Given the description of an element on the screen output the (x, y) to click on. 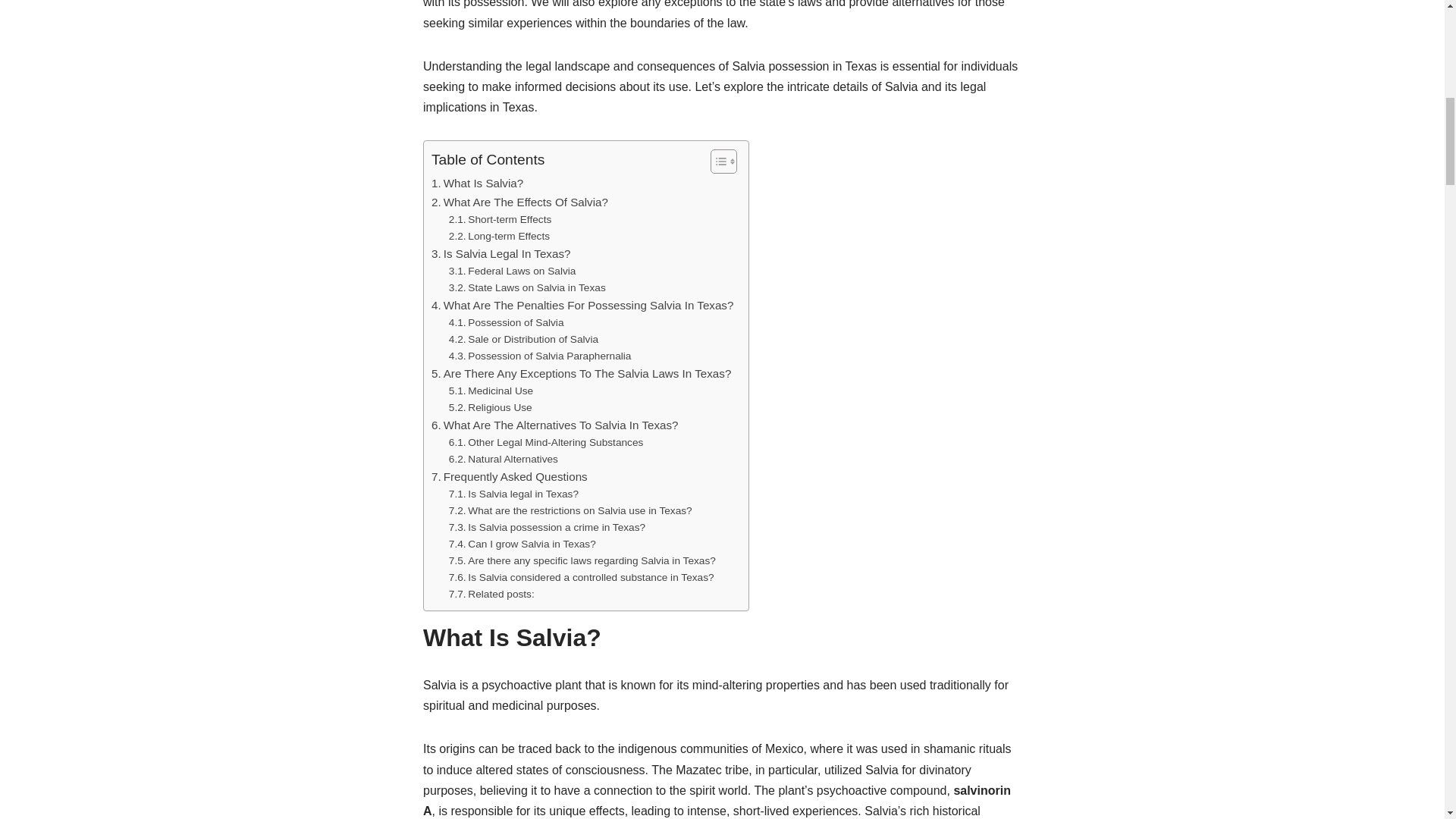
What Are The Penalties For Possessing Salvia In Texas? (581, 305)
What Is Salvia? (476, 183)
Is Salvia Legal In Texas? (500, 253)
Long-term Effects (499, 236)
Short-term Effects (499, 219)
What Is Salvia? (476, 183)
State Laws on Salvia in Texas (526, 288)
Possession of Salvia (506, 322)
Sale or Distribution of Salvia (523, 339)
Federal Laws on Salvia (512, 271)
